Given the description of an element on the screen output the (x, y) to click on. 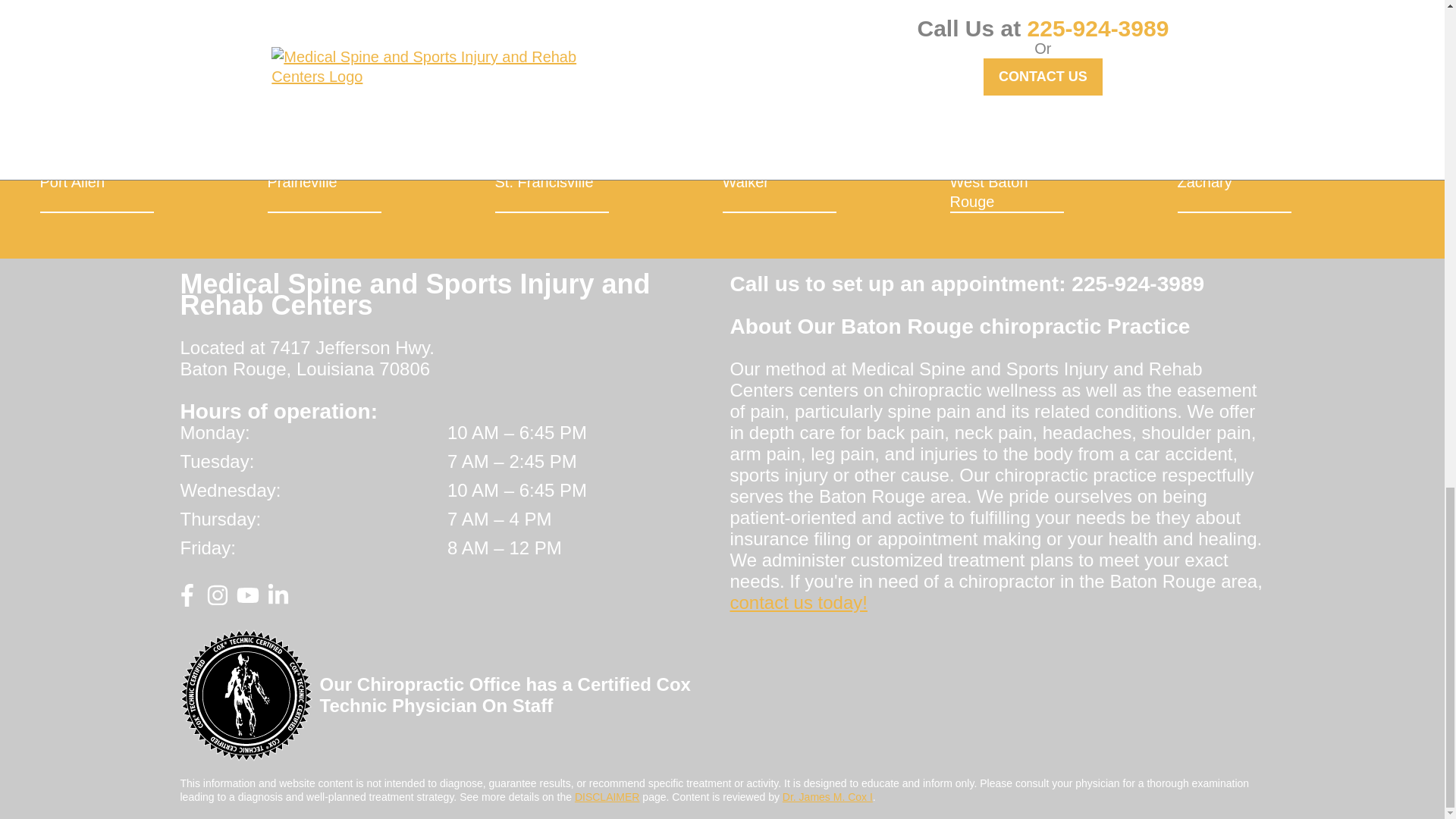
Follow us on Instagram (217, 600)
Like us on Facebook (187, 600)
Connect with us on LinkedIn (277, 600)
Subscribe to us on YouTube (247, 600)
